Given the description of an element on the screen output the (x, y) to click on. 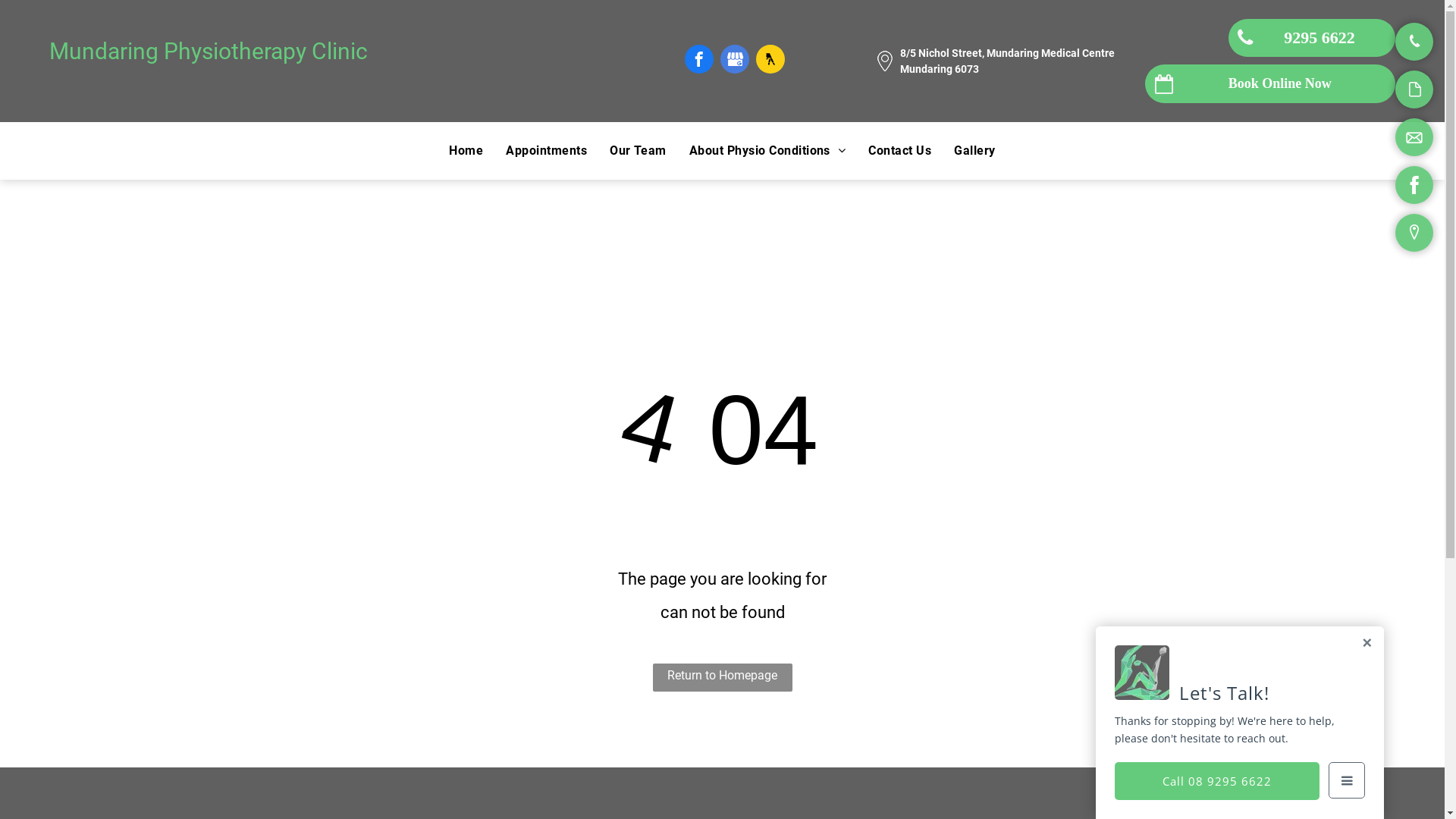
9295 6622 Element type: text (1311, 37)
Home Element type: text (465, 150)
Contact Us Element type: text (899, 150)
8/5 Nichol Street, Mundaring Medical Centre Element type: text (1007, 53)
Gallery Element type: text (974, 150)
About Physio Conditions Element type: text (767, 150)
Book Online Now Element type: text (1270, 83)
Appointments Element type: text (546, 150)
Mundaring Physiotherapy Clinic Element type: text (208, 50)
Call 08 9295 6622 Element type: text (1216, 781)
Return to Homepage Element type: text (721, 677)
Mundaring 6073 Element type: text (939, 68)
Our Team Element type: text (637, 150)
